Given the description of an element on the screen output the (x, y) to click on. 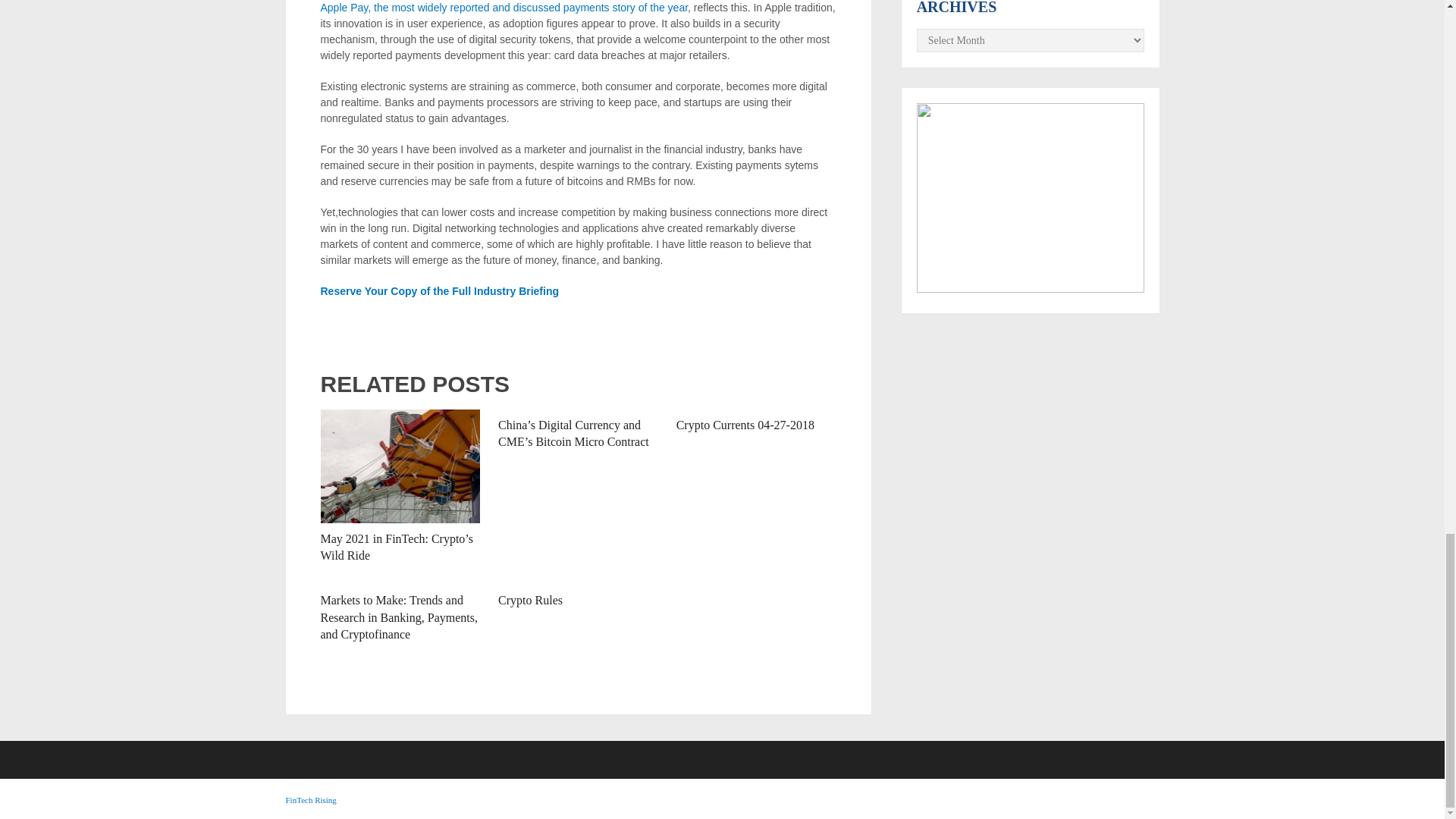
Crypto Currents 04-27-2018 (745, 424)
Crypto Rules (529, 599)
